Given the description of an element on the screen output the (x, y) to click on. 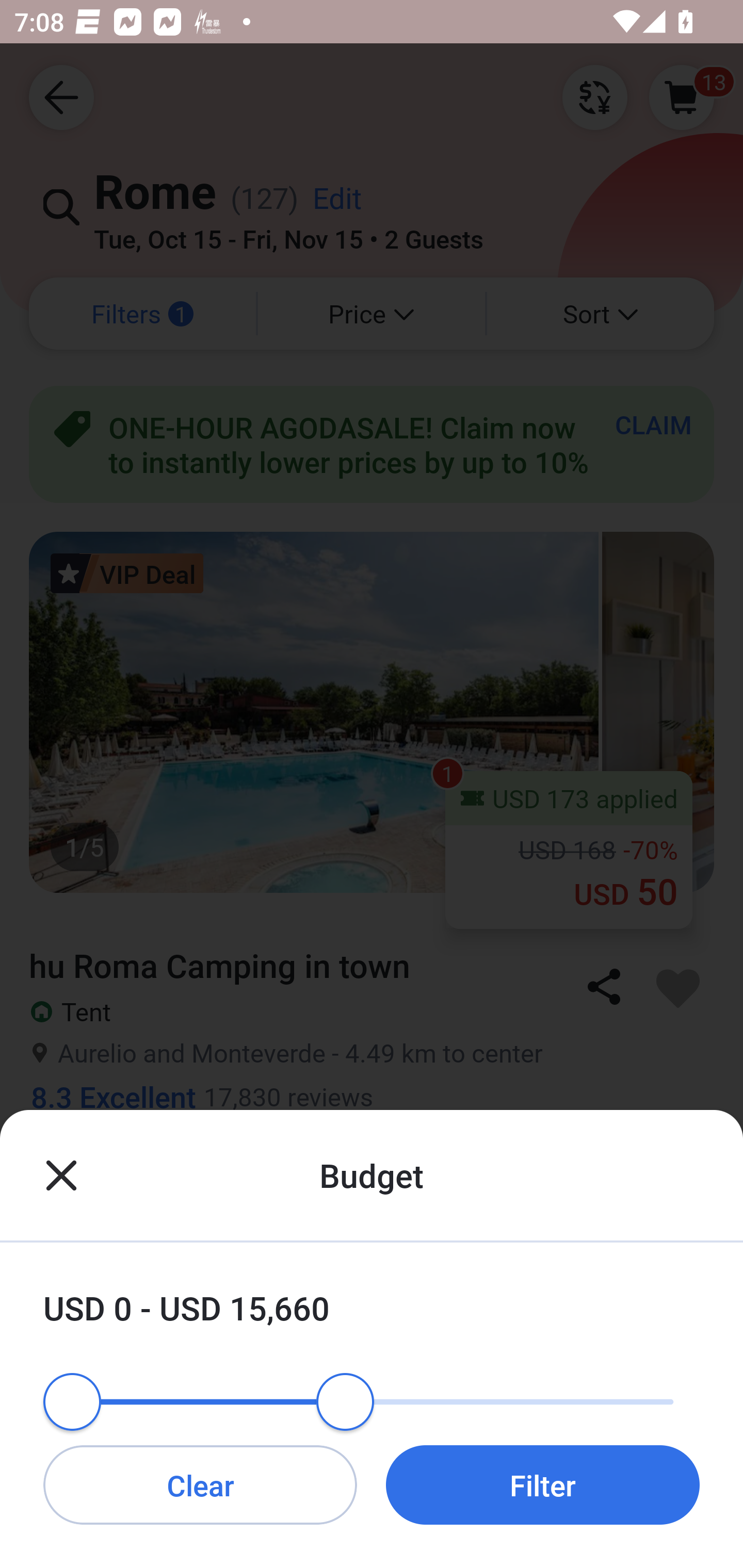
Clear (200, 1484)
Filter (542, 1484)
